Given the description of an element on the screen output the (x, y) to click on. 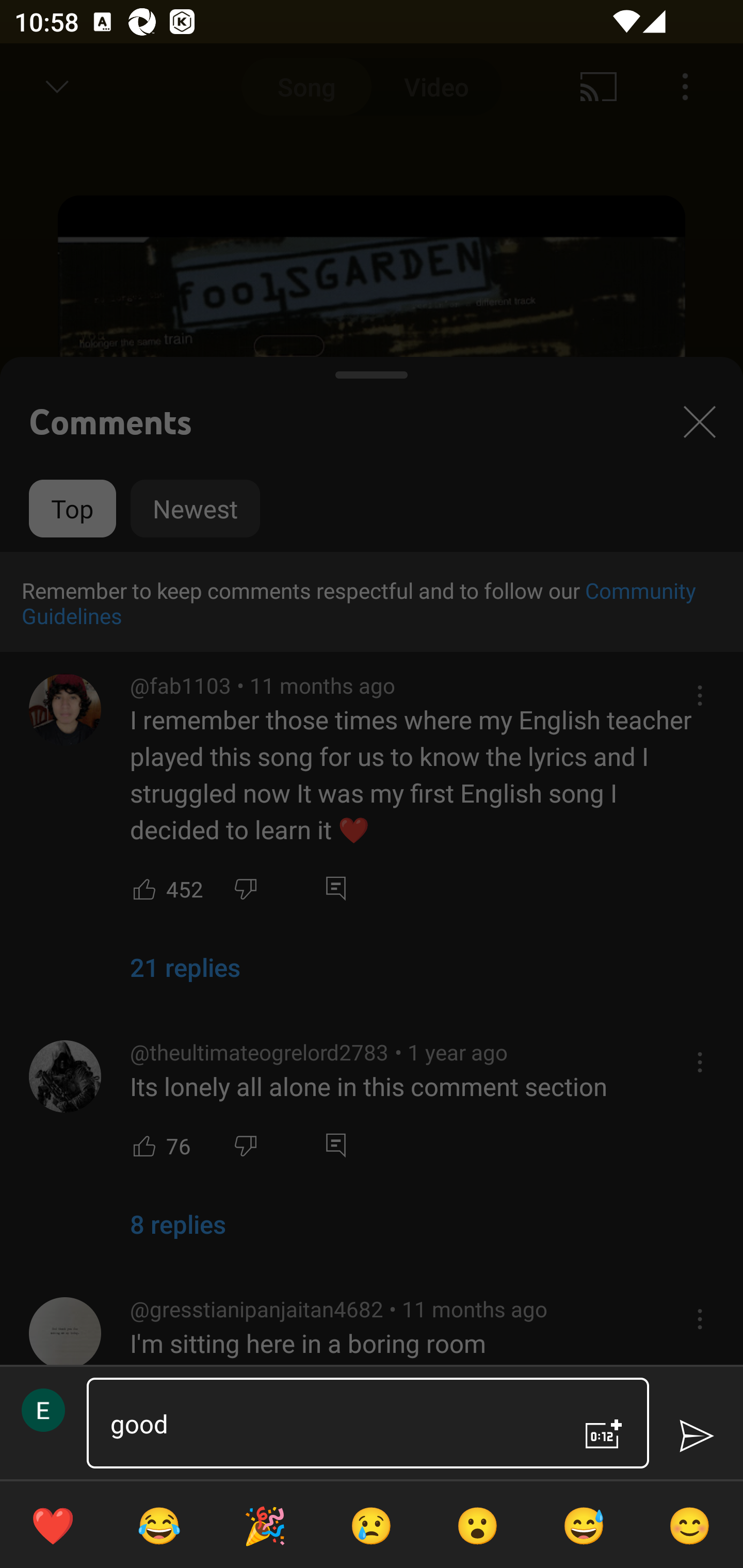
good
 (329, 1422)
Add a timestamp (603, 1433)
Send comment (695, 1436)
❤ (53, 1524)
😂 (158, 1524)
🎉 (264, 1524)
😢 (371, 1524)
😮 (477, 1524)
😅 (583, 1524)
😊 (689, 1524)
